Given the description of an element on the screen output the (x, y) to click on. 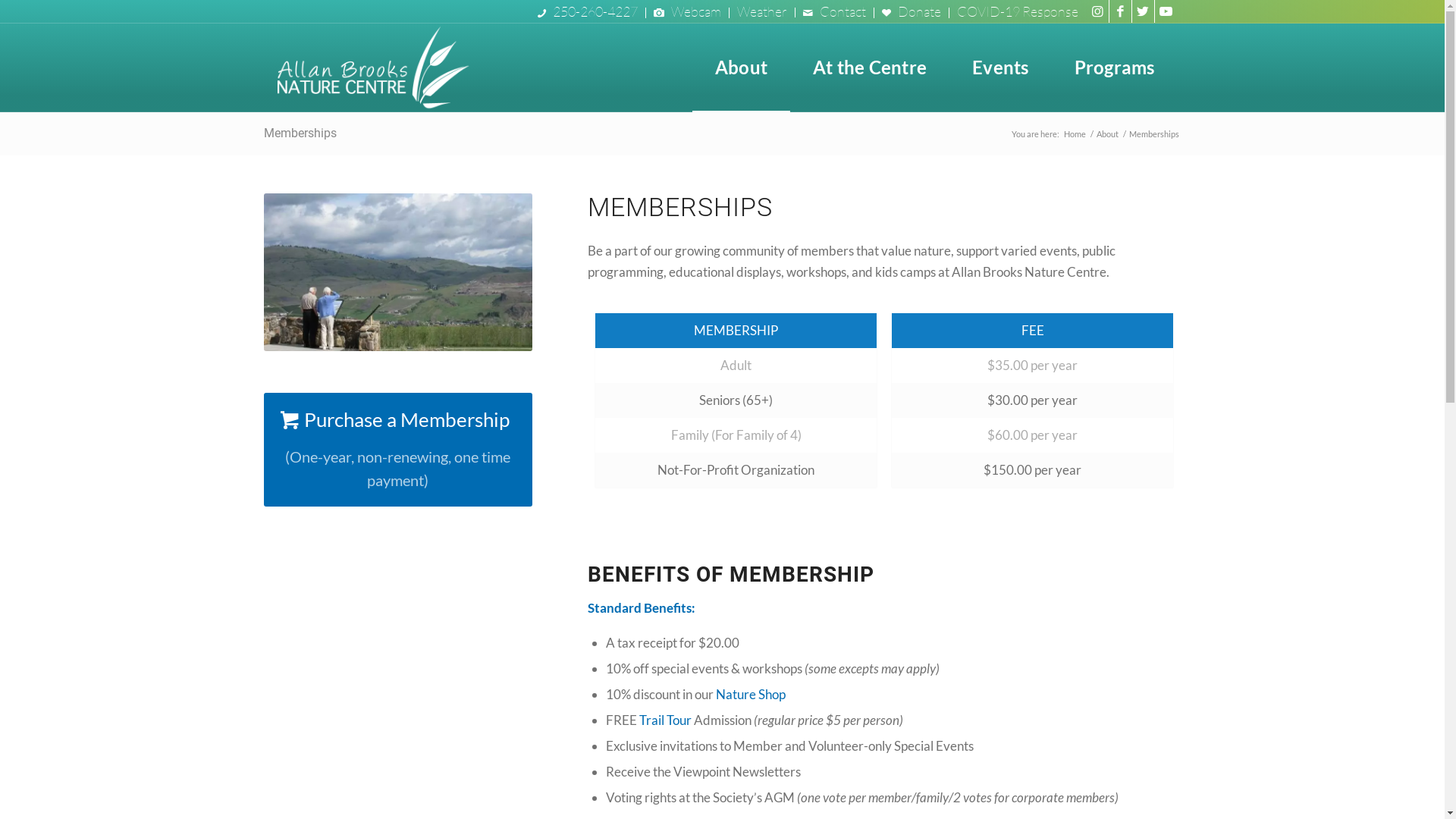
Trail Tour Element type: text (665, 720)
Instagram Element type: hover (1096, 11)
At the Centre Element type: text (869, 67)
abnc_09_078-734x550 Element type: hover (398, 272)
Events Element type: text (1000, 67)
Nature Shop Element type: text (750, 694)
Home Element type: text (1074, 133)
Facebook Element type: hover (1119, 11)
About Element type: text (1106, 133)
Twitter Element type: hover (1142, 11)
About Element type: text (741, 67)
Youtube Element type: hover (1165, 11)
Programs Element type: text (1114, 67)
Memberships Element type: text (299, 132)
